Given the description of an element on the screen output the (x, y) to click on. 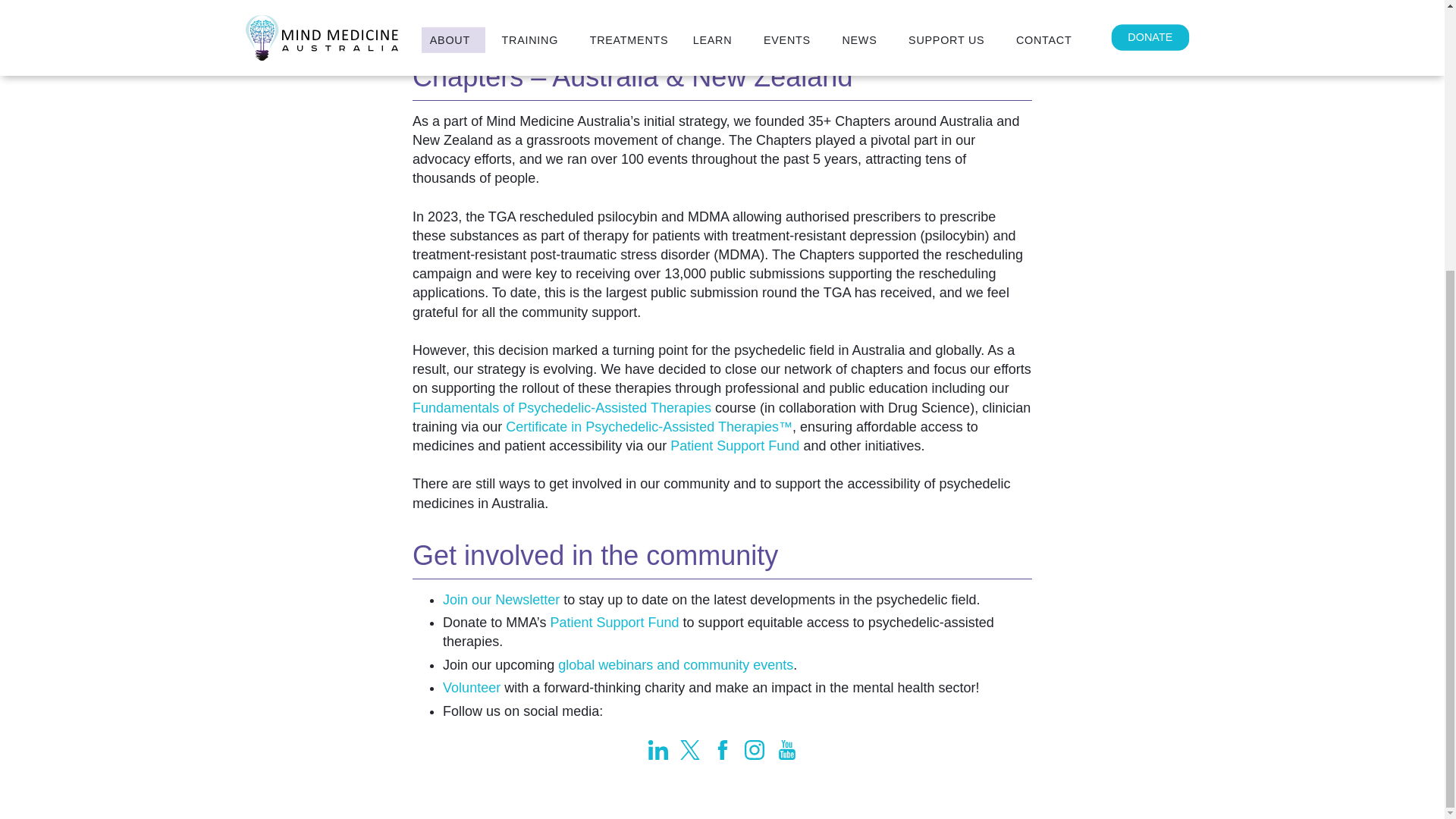
Connect with us on X (689, 750)
Connect with us on YouTube (785, 750)
Connect with us on Facebook (722, 750)
Connect with us on LinkedIn (657, 750)
Connect with us on Instagram (753, 750)
